Given the description of an element on the screen output the (x, y) to click on. 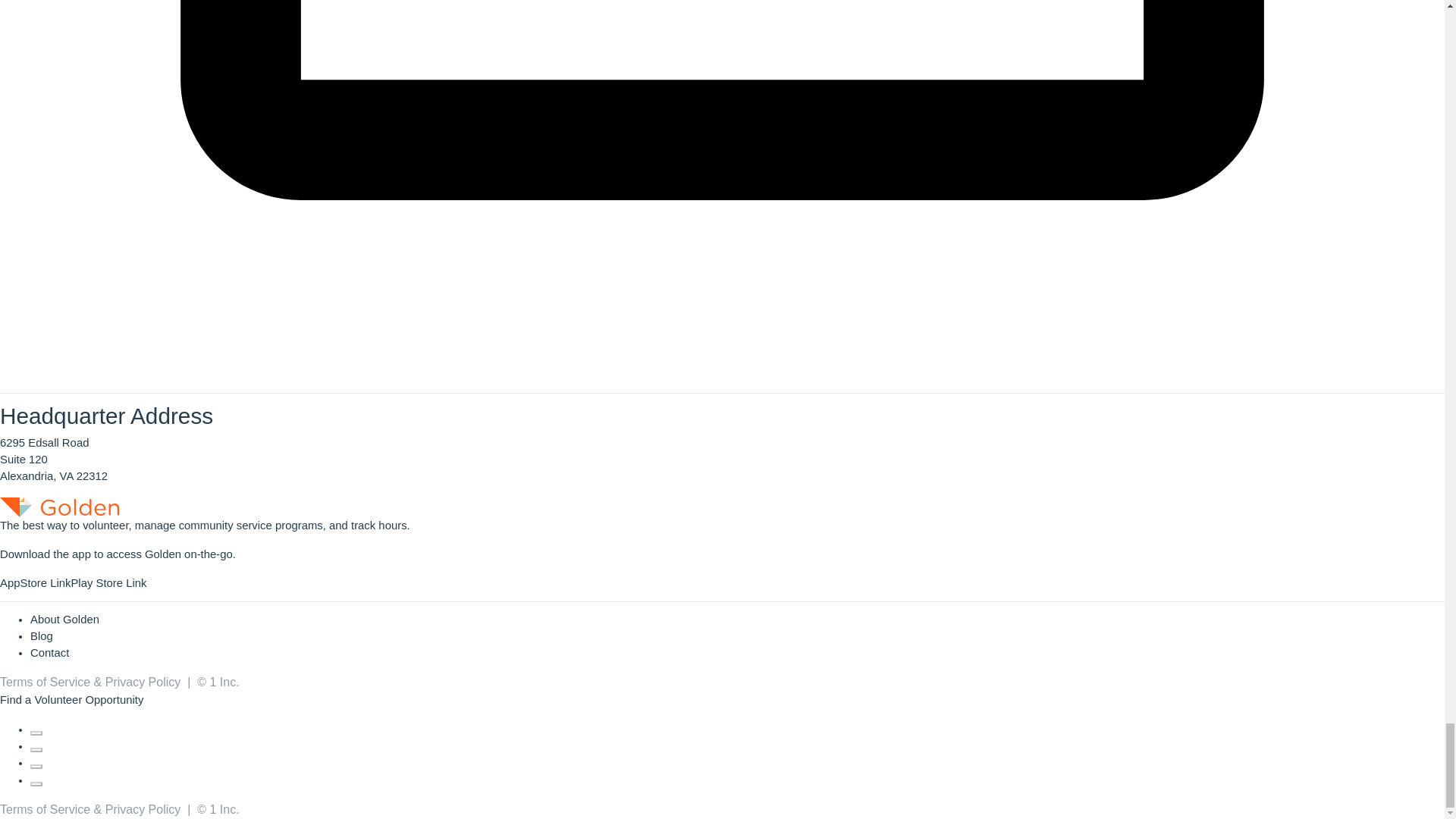
Privacy Policy (142, 809)
About Golden (64, 619)
Visit Us On Twitter (36, 746)
Blog (41, 635)
Privacy Policy (142, 681)
Visit Us On Instagram (36, 762)
Volunteer Opportunity (87, 699)
Volunteer Opportunity (87, 699)
Play Store Link (108, 582)
AppStore Link (34, 582)
